Given the description of an element on the screen output the (x, y) to click on. 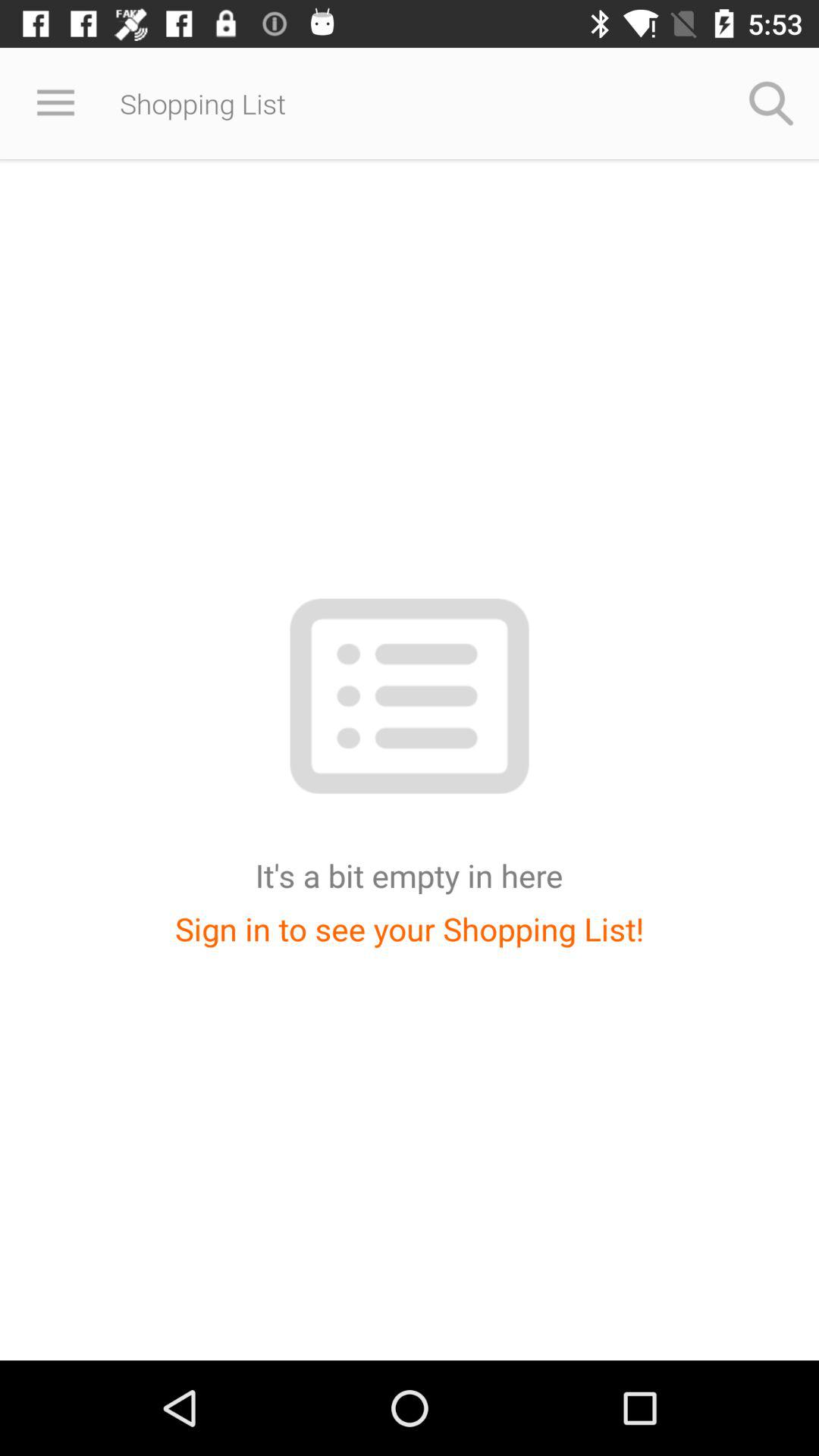
turn on icon at the top right corner (771, 103)
